Given the description of an element on the screen output the (x, y) to click on. 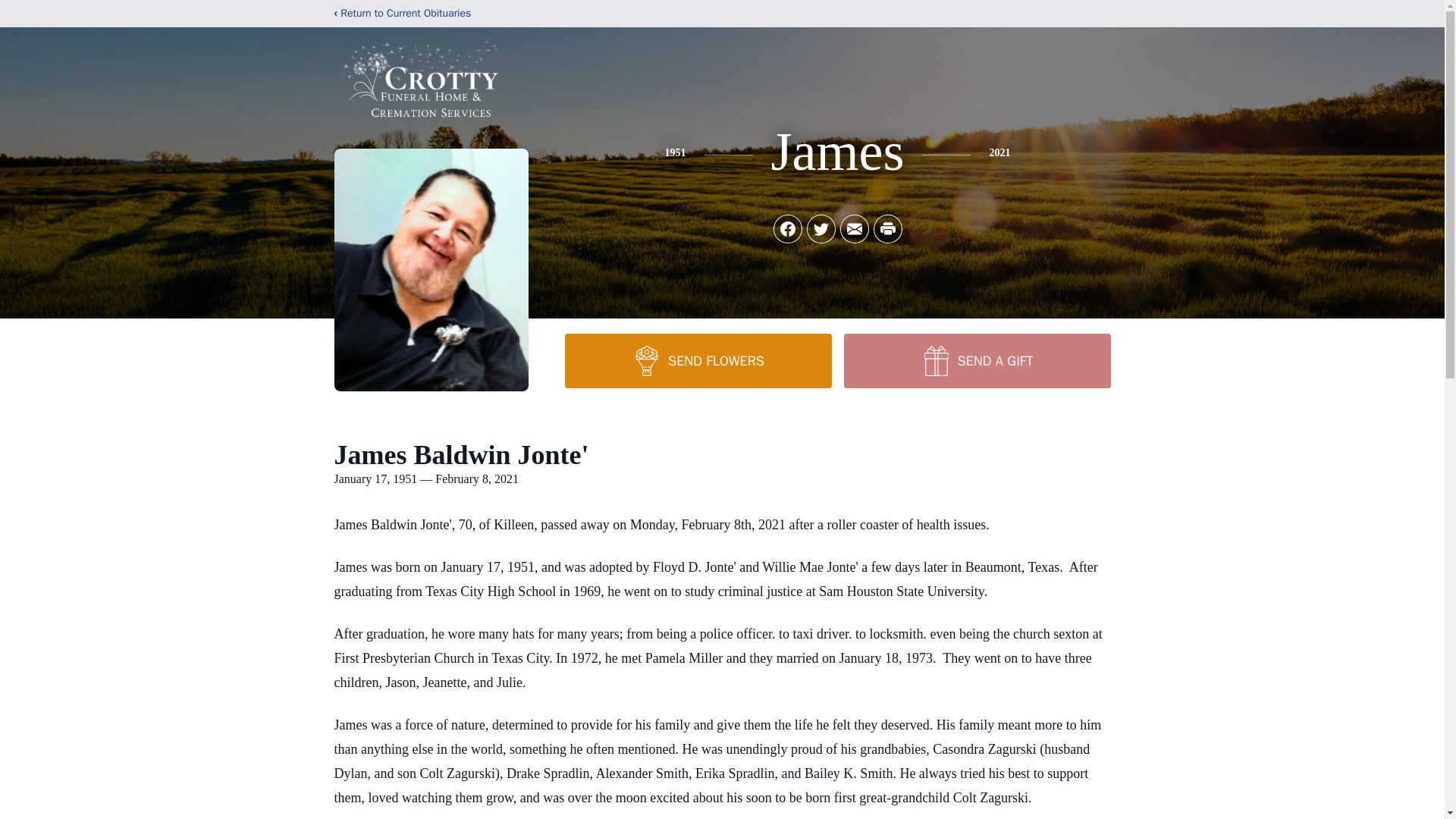
SEND A GIFT (976, 360)
SEND FLOWERS (697, 360)
